Given the description of an element on the screen output the (x, y) to click on. 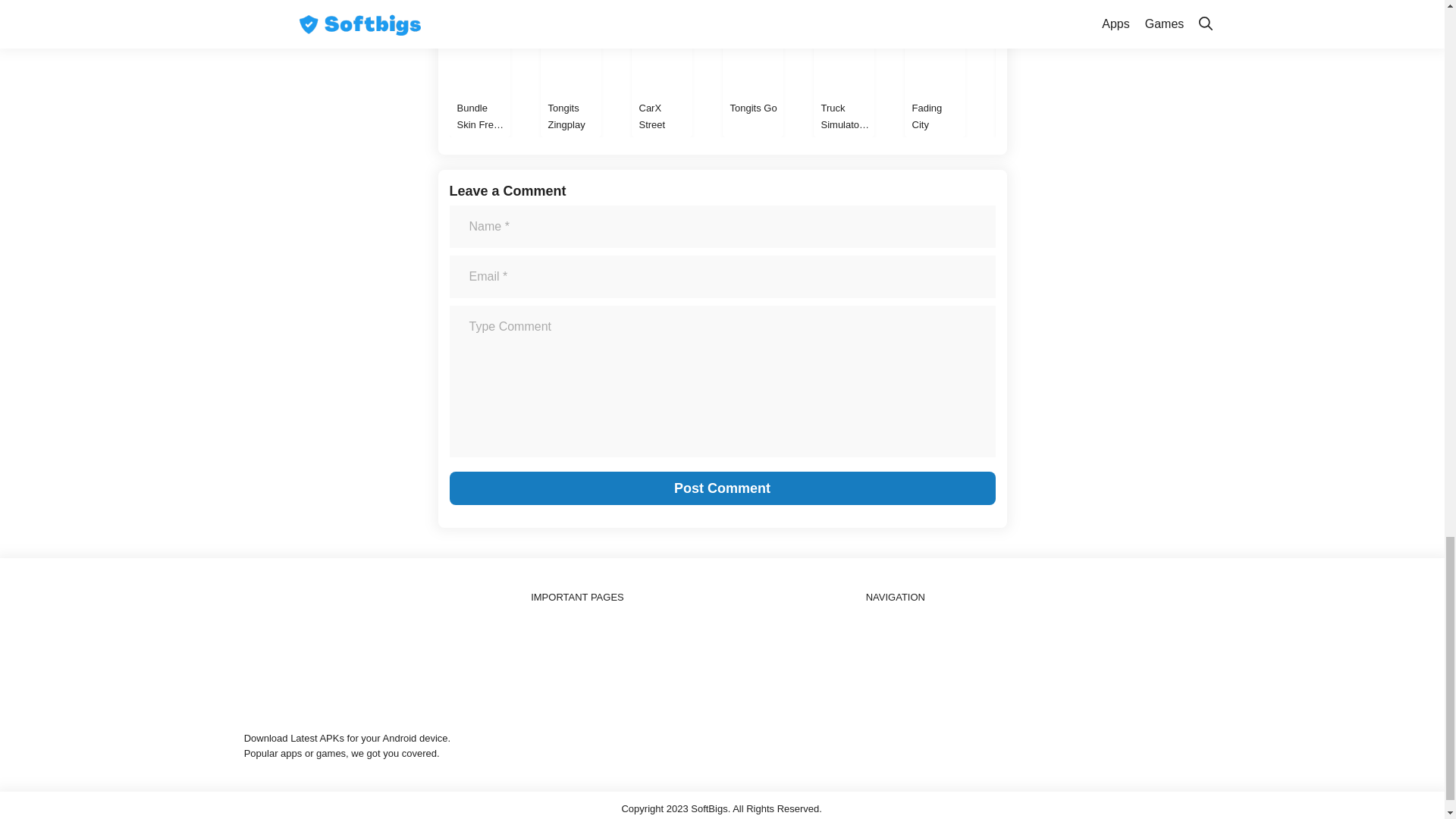
Post Comment (721, 488)
